Given the description of an element on the screen output the (x, y) to click on. 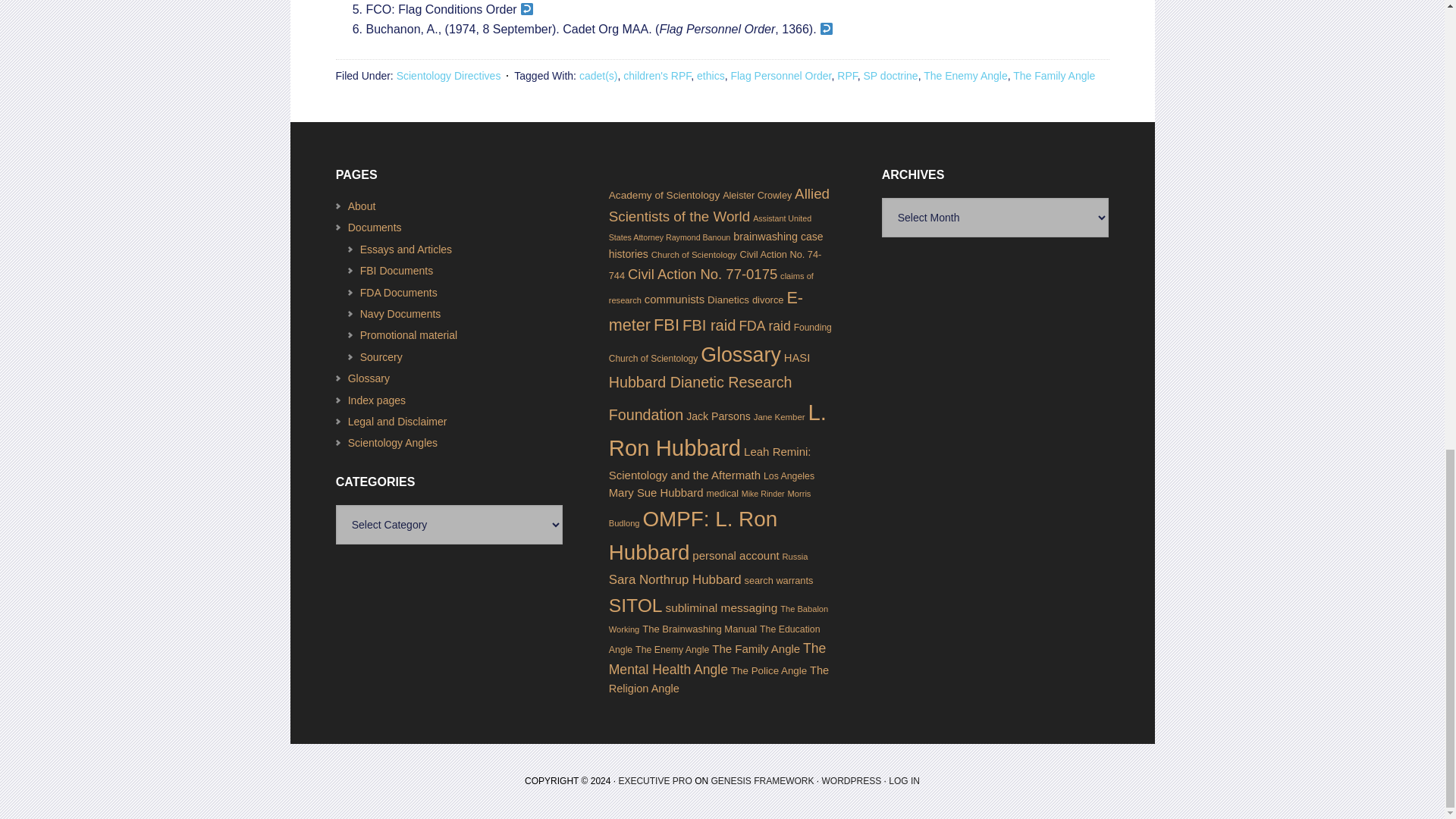
The Enemy Angle (965, 75)
Essays and Articles (405, 249)
SP doctrine (890, 75)
children's RPF (656, 75)
About (361, 205)
RPF (847, 75)
ethics (711, 75)
Flag Personnel Order (780, 75)
Documents (374, 227)
Scientology Directives (448, 75)
